Given the description of an element on the screen output the (x, y) to click on. 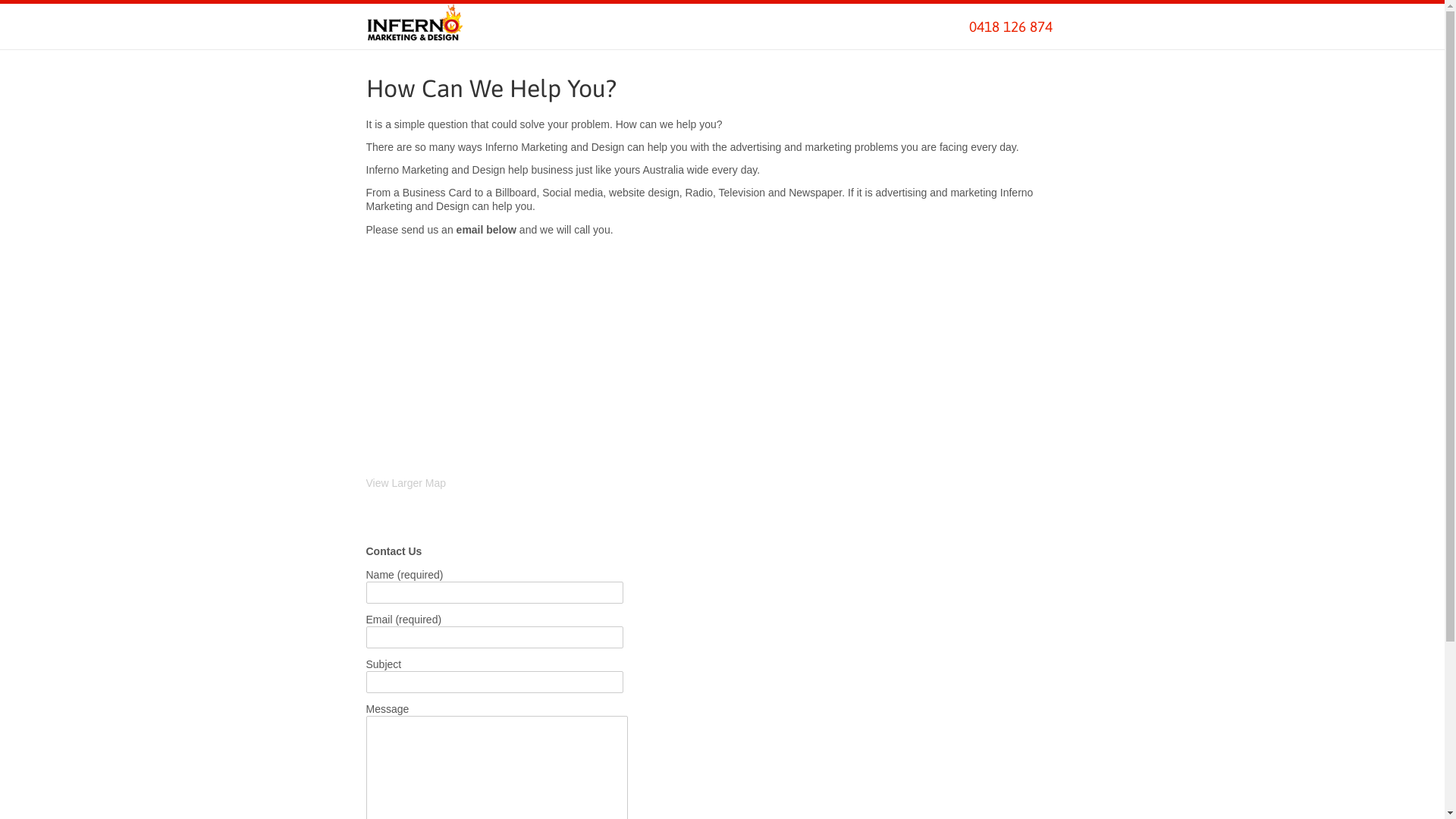
0418 126 874 Element type: text (1010, 26)
View Larger Map Element type: text (405, 482)
